Given the description of an element on the screen output the (x, y) to click on. 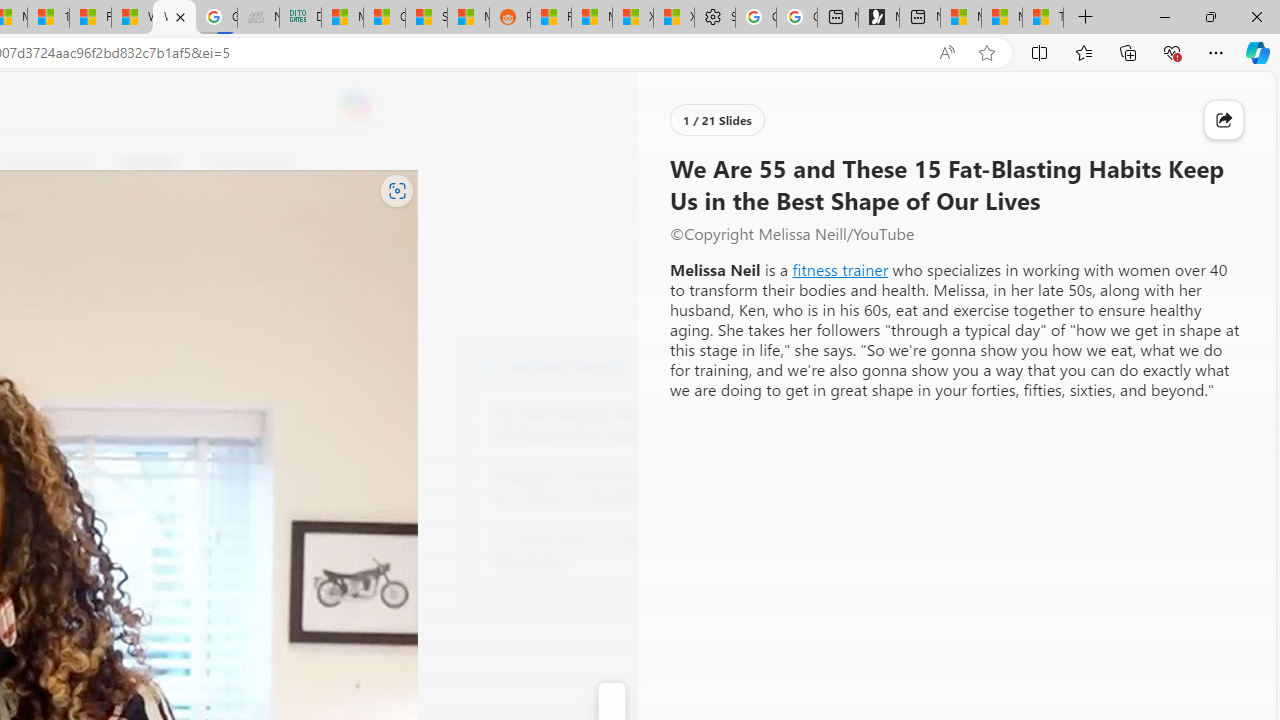
Go to publisher's site (180, 258)
R******* | Trusted Community Engagement and Contributions (550, 17)
Lifestyle (148, 162)
Fitness - MSN (90, 17)
Class: at-item immersive (1224, 120)
8 Reasons to Drink Kombucha, According to a Nutritionist (603, 488)
